Given the description of an element on the screen output the (x, y) to click on. 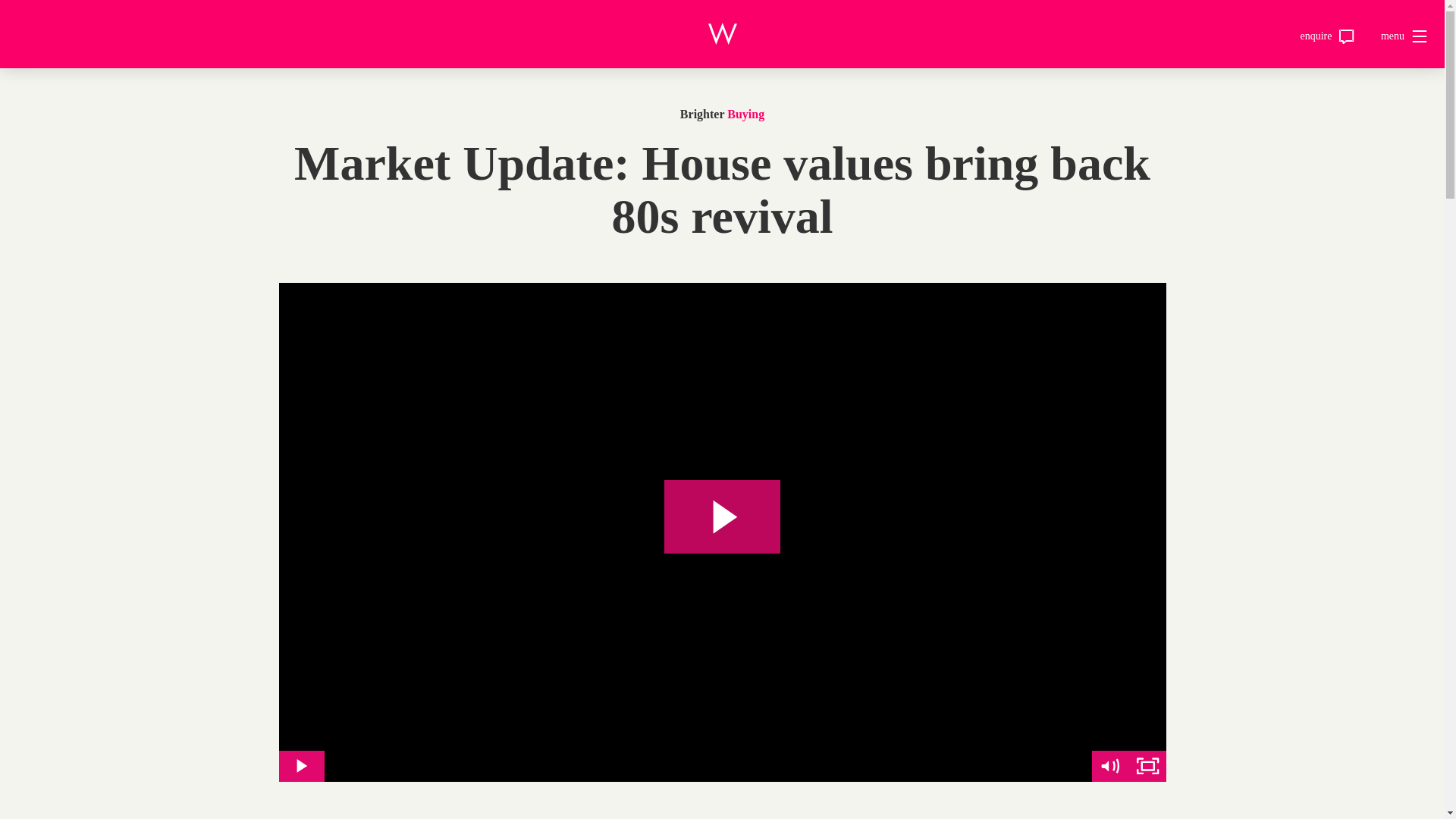
Play Video (301, 766)
Fullscreen (1147, 766)
Mute (1110, 766)
